Given the description of an element on the screen output the (x, y) to click on. 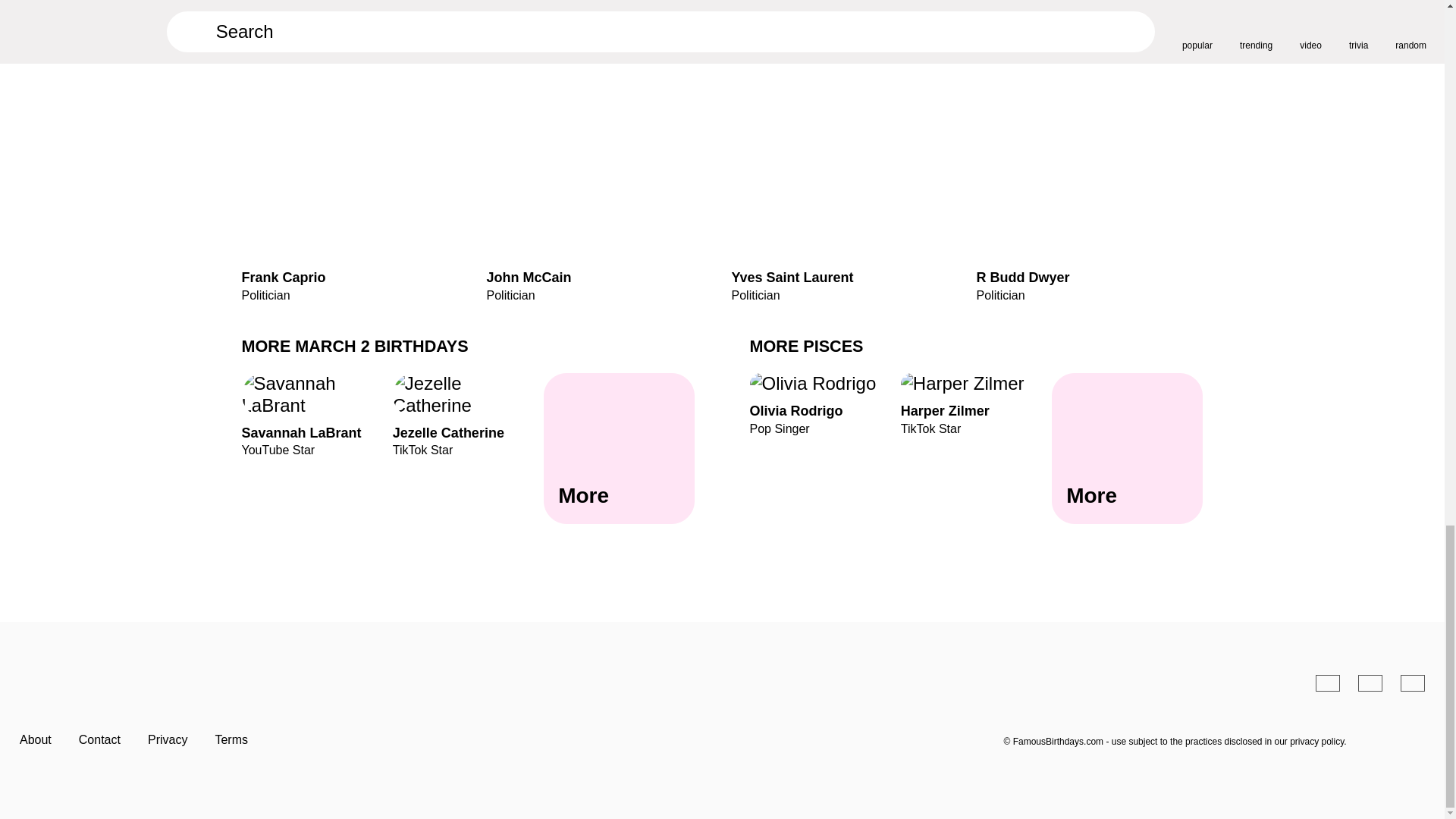
More (976, 403)
Portuguese (354, 168)
French (618, 448)
MORE MARCH 2 BIRTHDAYS (1369, 682)
MORE PISCES (1412, 682)
More (354, 345)
Spanish (806, 345)
